Given the description of an element on the screen output the (x, y) to click on. 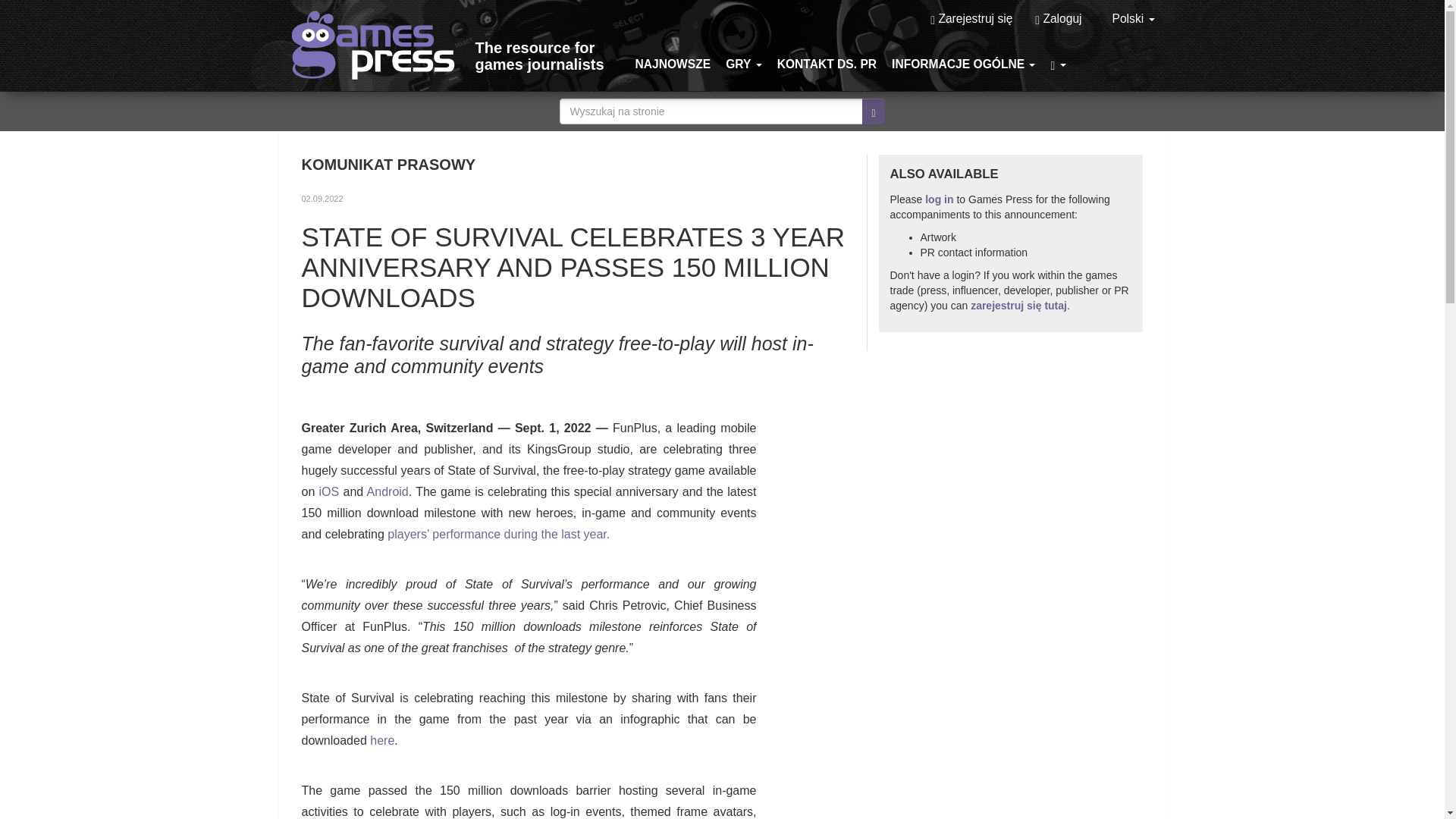
GRY (743, 63)
KONTAKT DS. PR (826, 63)
Zaloguj (1058, 18)
Polski (1133, 18)
NAJNOWSZE (673, 63)
Games Press (377, 41)
